Given the description of an element on the screen output the (x, y) to click on. 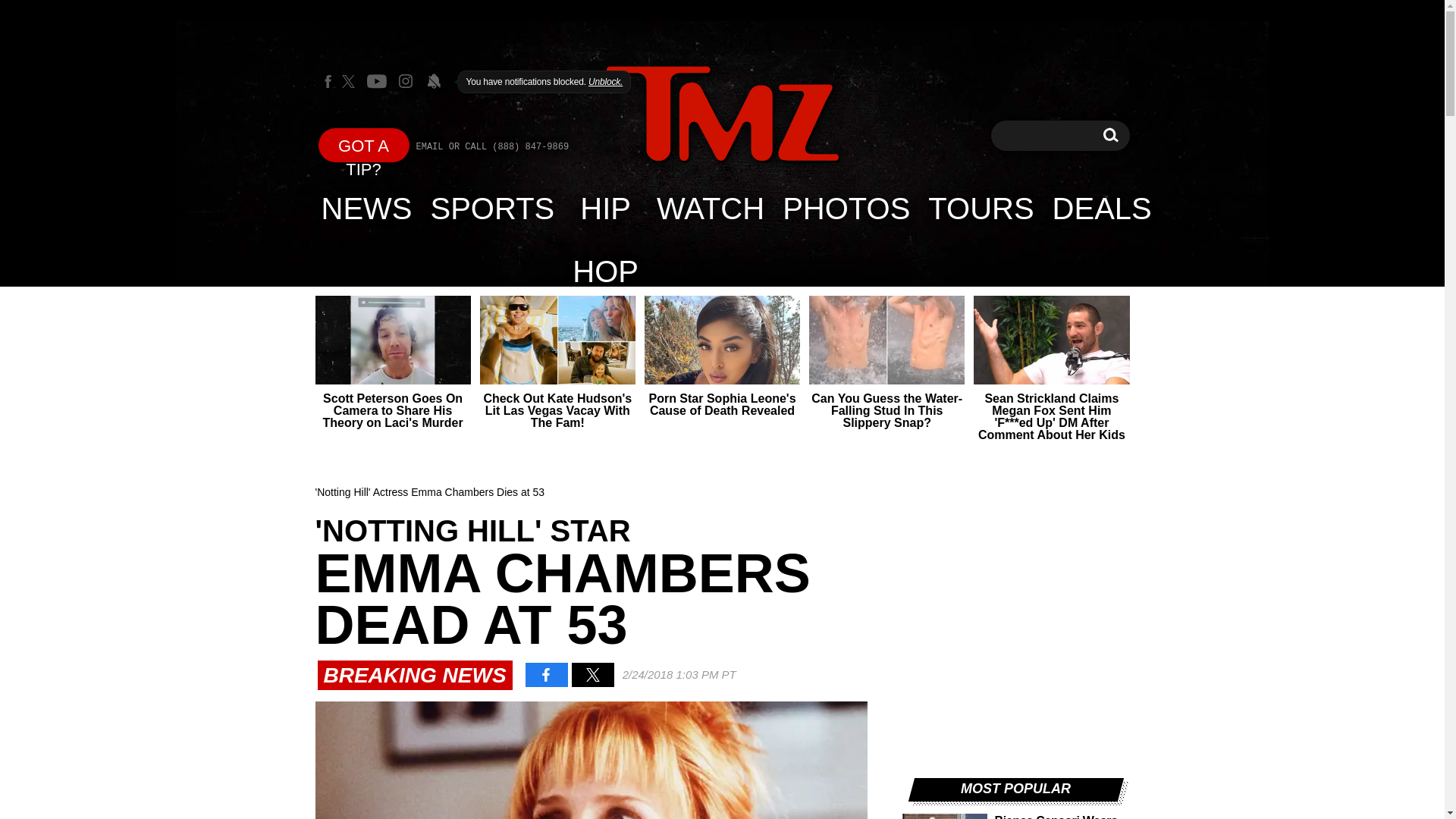
TMZ (722, 113)
Search (1110, 134)
TMZ (722, 115)
SPORTS (493, 207)
HIP HOP (605, 207)
GOT A TIP? (363, 144)
NEWS (367, 207)
WATCH (710, 207)
DEALS (1101, 207)
